Given the description of an element on the screen output the (x, y) to click on. 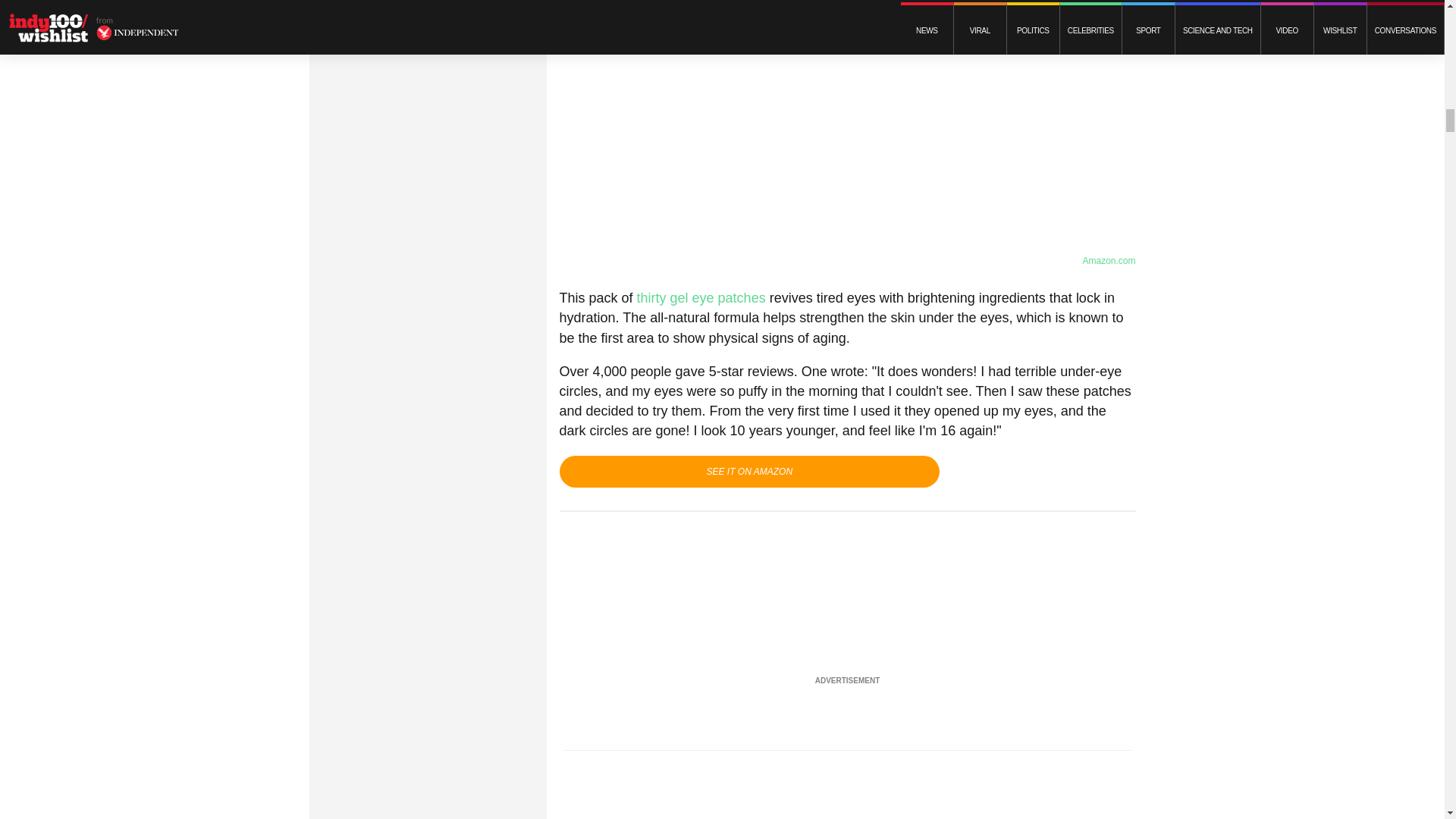
Amazon.com (1108, 260)
